Given the description of an element on the screen output the (x, y) to click on. 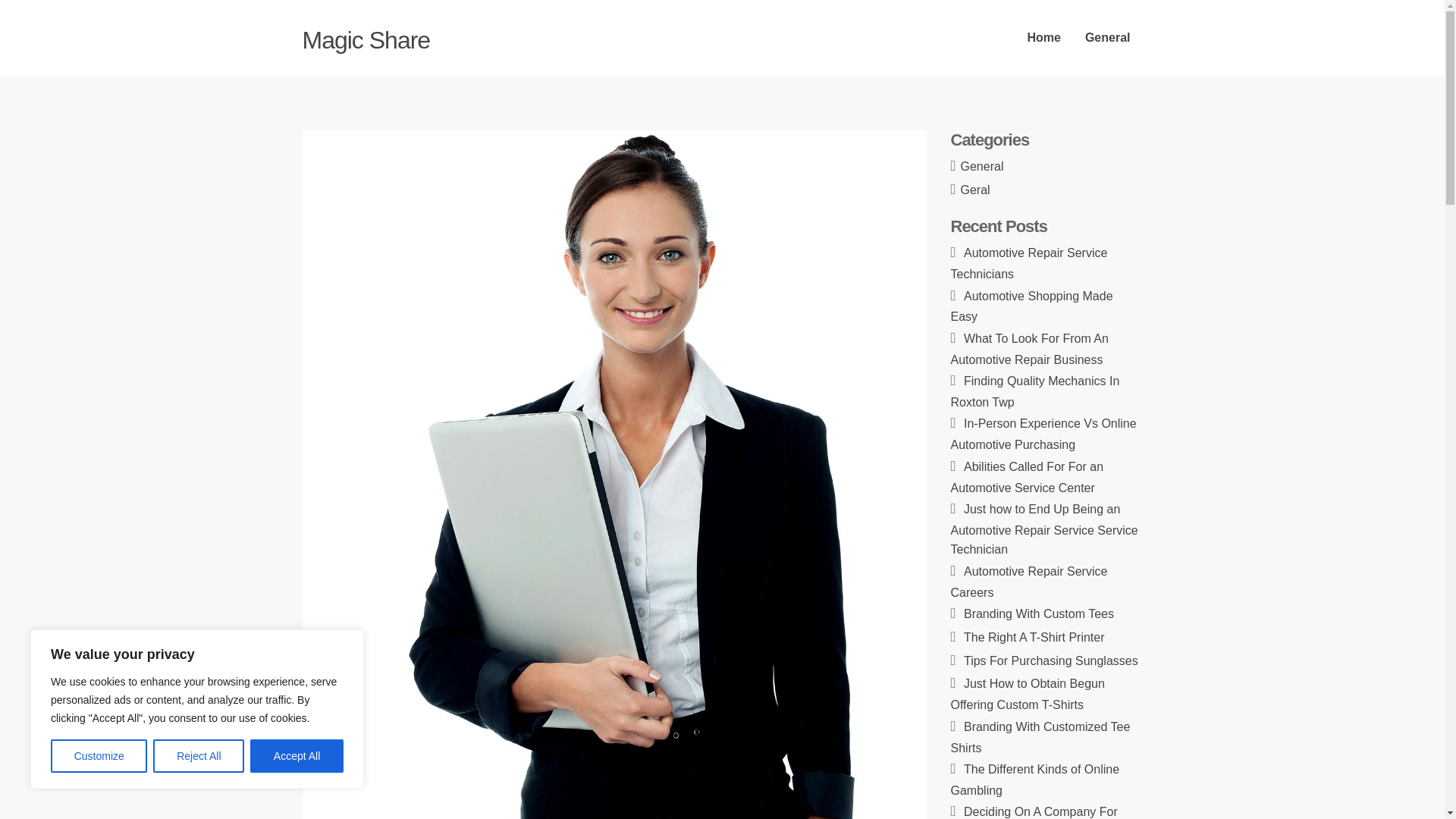
Home (1042, 37)
Customize (98, 756)
General (982, 165)
Magic Share (365, 39)
Automotive Repair Service Technicians (1029, 263)
Accept All (296, 756)
Automotive Shopping Made Easy (1031, 306)
Reject All (198, 756)
Geral (975, 189)
General (1107, 37)
